Given the description of an element on the screen output the (x, y) to click on. 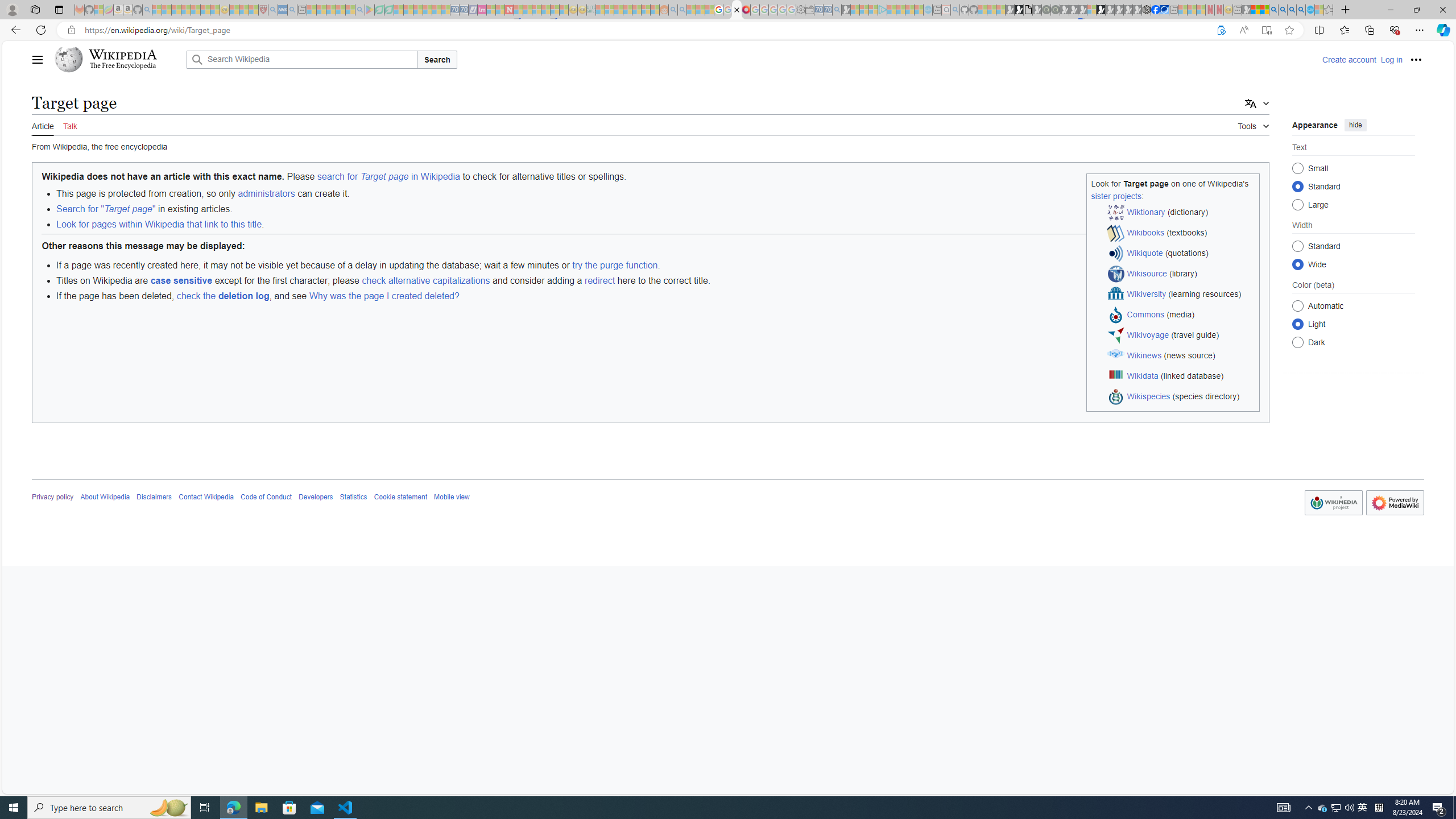
Dark (1297, 341)
Powered by MediaWiki (1395, 502)
try the purge function (615, 264)
Statistics (352, 497)
Look for pages within Wikipedia that link to this title (158, 224)
